Given the description of an element on the screen output the (x, y) to click on. 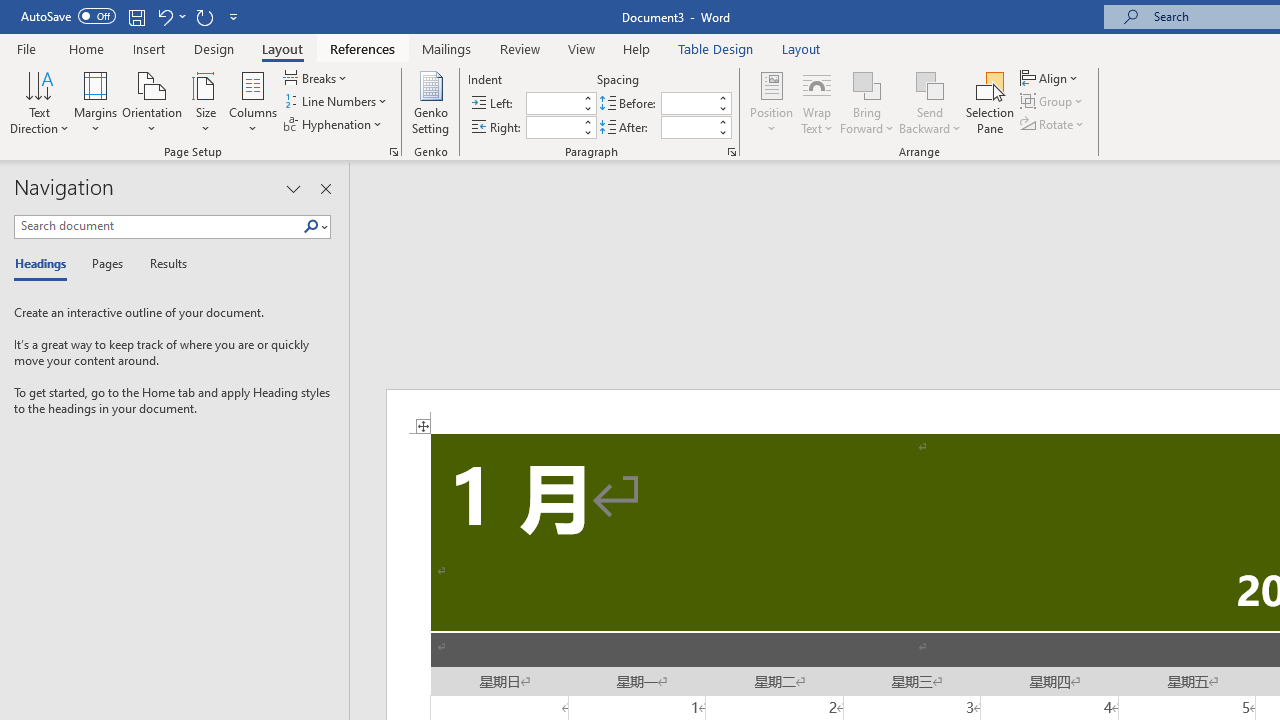
References (362, 48)
System (10, 11)
Table Design (715, 48)
Align (1051, 78)
AutoSave (68, 16)
Mailings (447, 48)
File Tab (26, 48)
Genko Setting... (430, 102)
Size (205, 102)
Spacing After (687, 127)
Indent Left (552, 103)
Search document (157, 226)
Breaks (317, 78)
Design (214, 48)
